Given the description of an element on the screen output the (x, y) to click on. 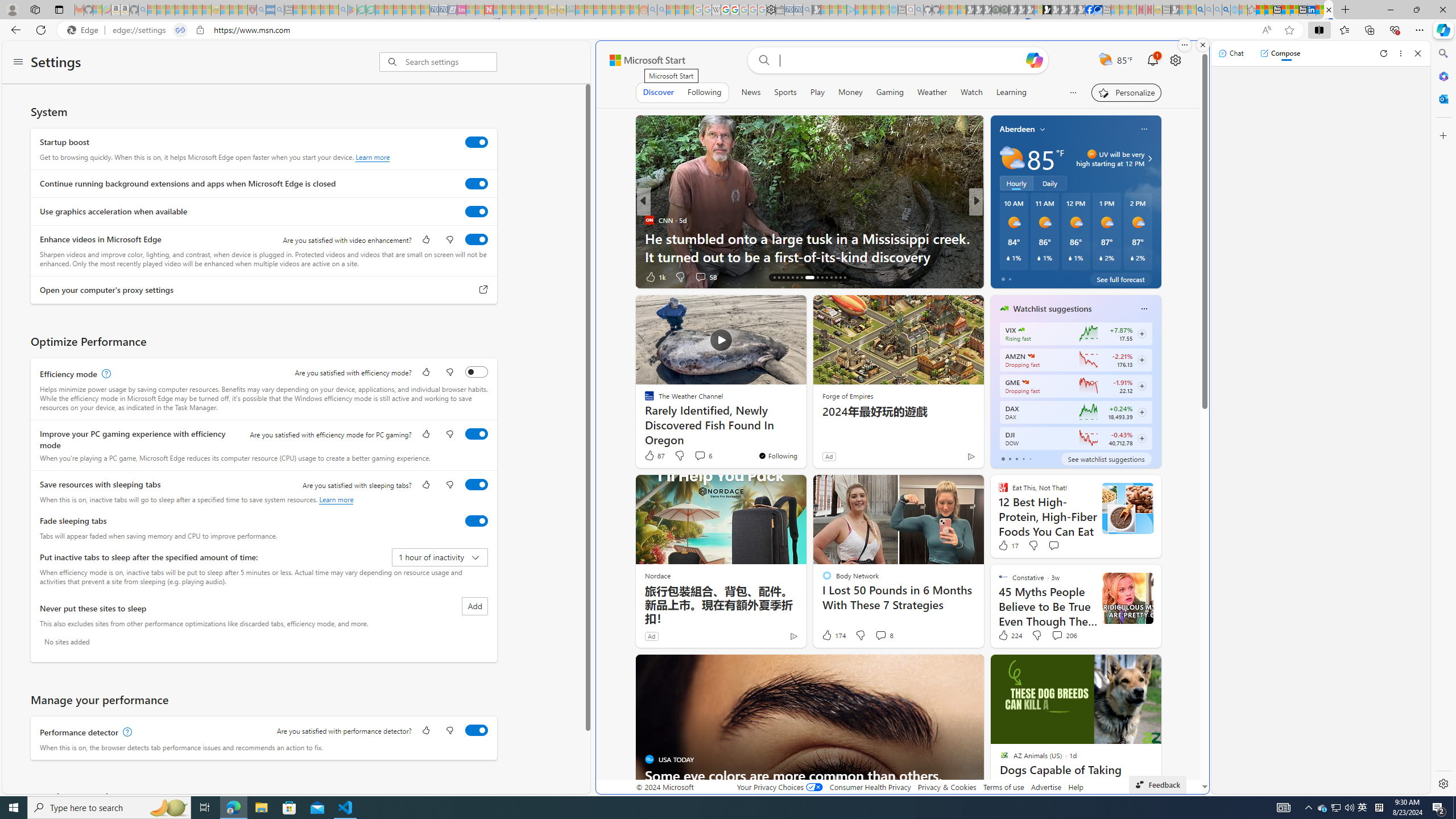
Improve your PC gaming experience with efficiency mode (476, 433)
Animals Around The Globe (US) (999, 238)
View comments 21 Comment (1059, 276)
CBOE Market Volatility Index (1021, 329)
Ad Choice (793, 635)
Class: icon-img (1143, 308)
New Report Confirms 2023 Was Record Hot | Watch - Sleeping (188, 9)
I Lost 50 Pounds While Eating These Foods Every Day (463, 256)
